Given the description of an element on the screen output the (x, y) to click on. 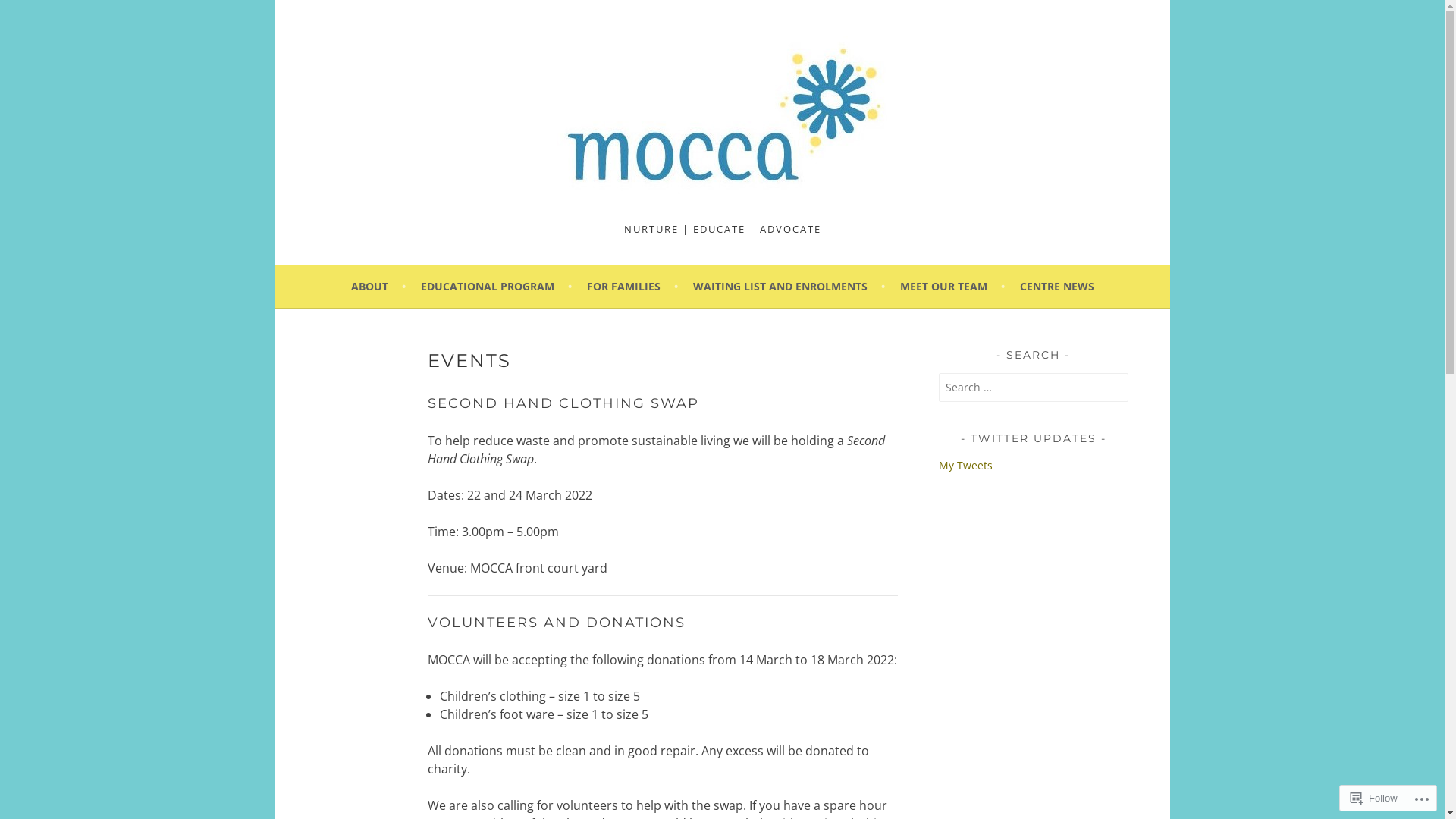
My Tweets Element type: text (965, 465)
Search Element type: text (29, 13)
ABOUT Element type: text (377, 286)
CENTRE NEWS Element type: text (1056, 286)
EDUCATIONAL PROGRAM Element type: text (495, 286)
WAITING LIST AND ENROLMENTS Element type: text (788, 286)
MEET OUR TEAM Element type: text (951, 286)
FOR FAMILIES Element type: text (631, 286)
Follow Element type: text (1373, 797)
